Given the description of an element on the screen output the (x, y) to click on. 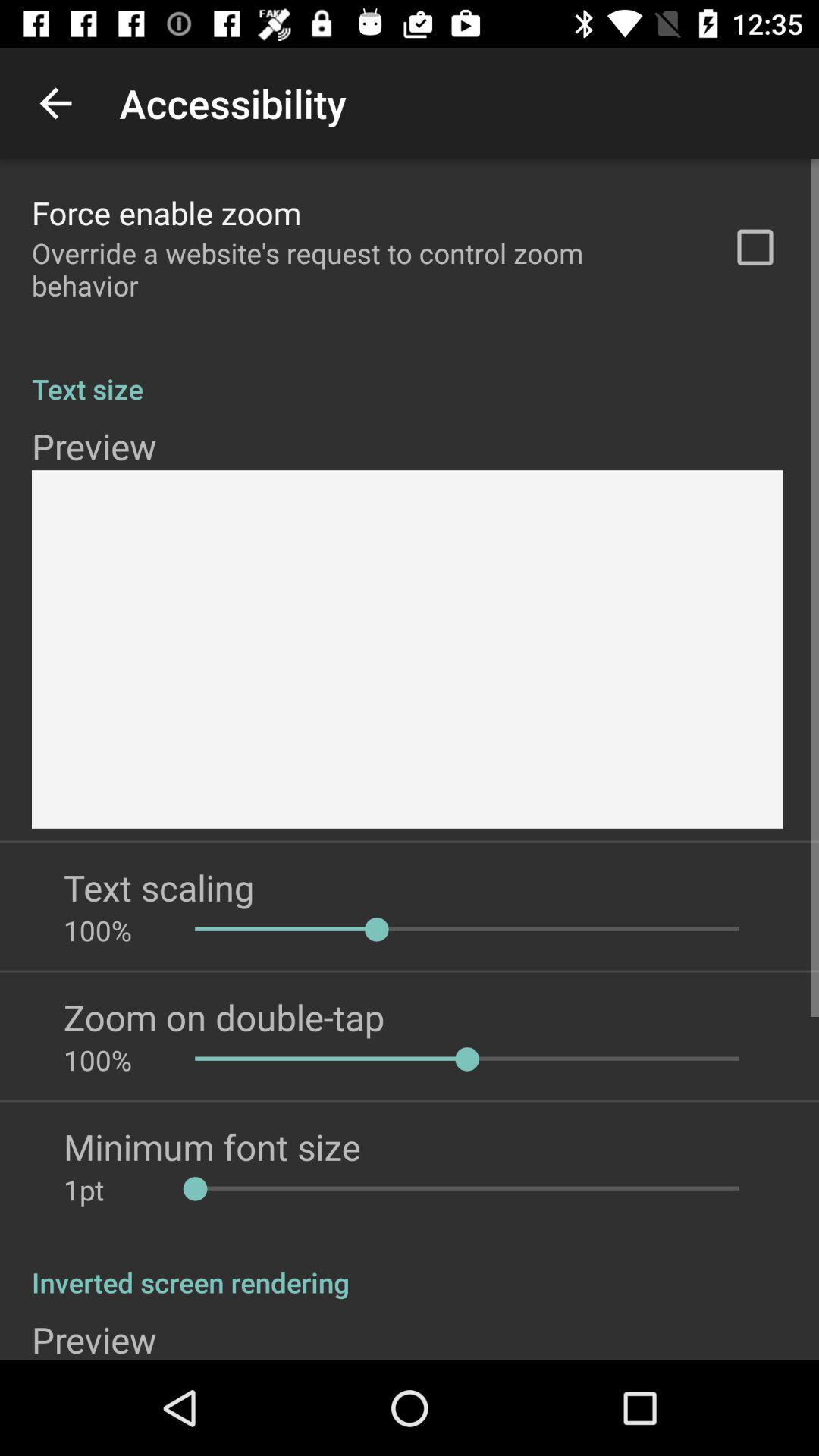
launch icon below 100% item (223, 1017)
